Given the description of an element on the screen output the (x, y) to click on. 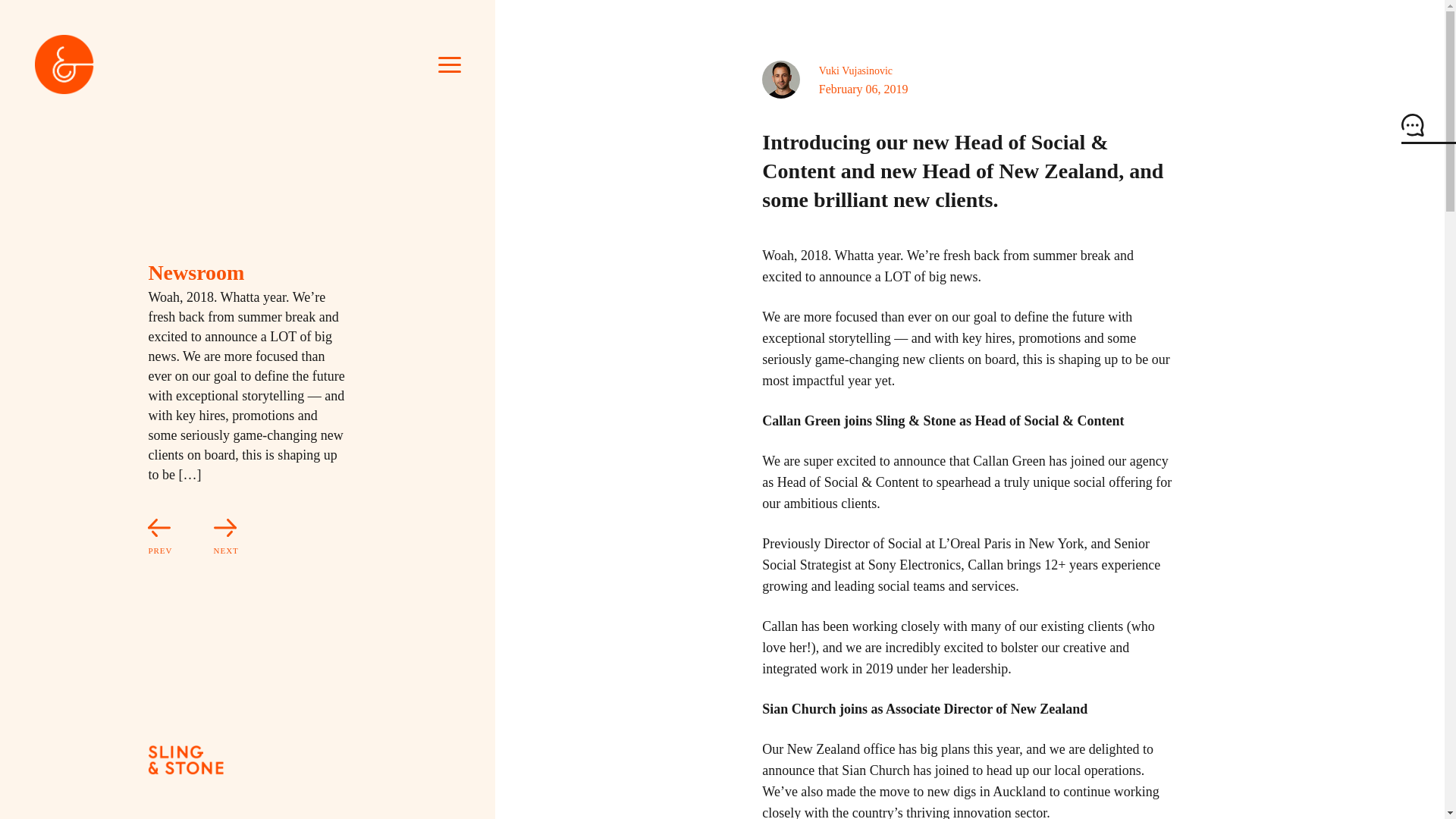
NEXT (207, 539)
